Given the description of an element on the screen output the (x, y) to click on. 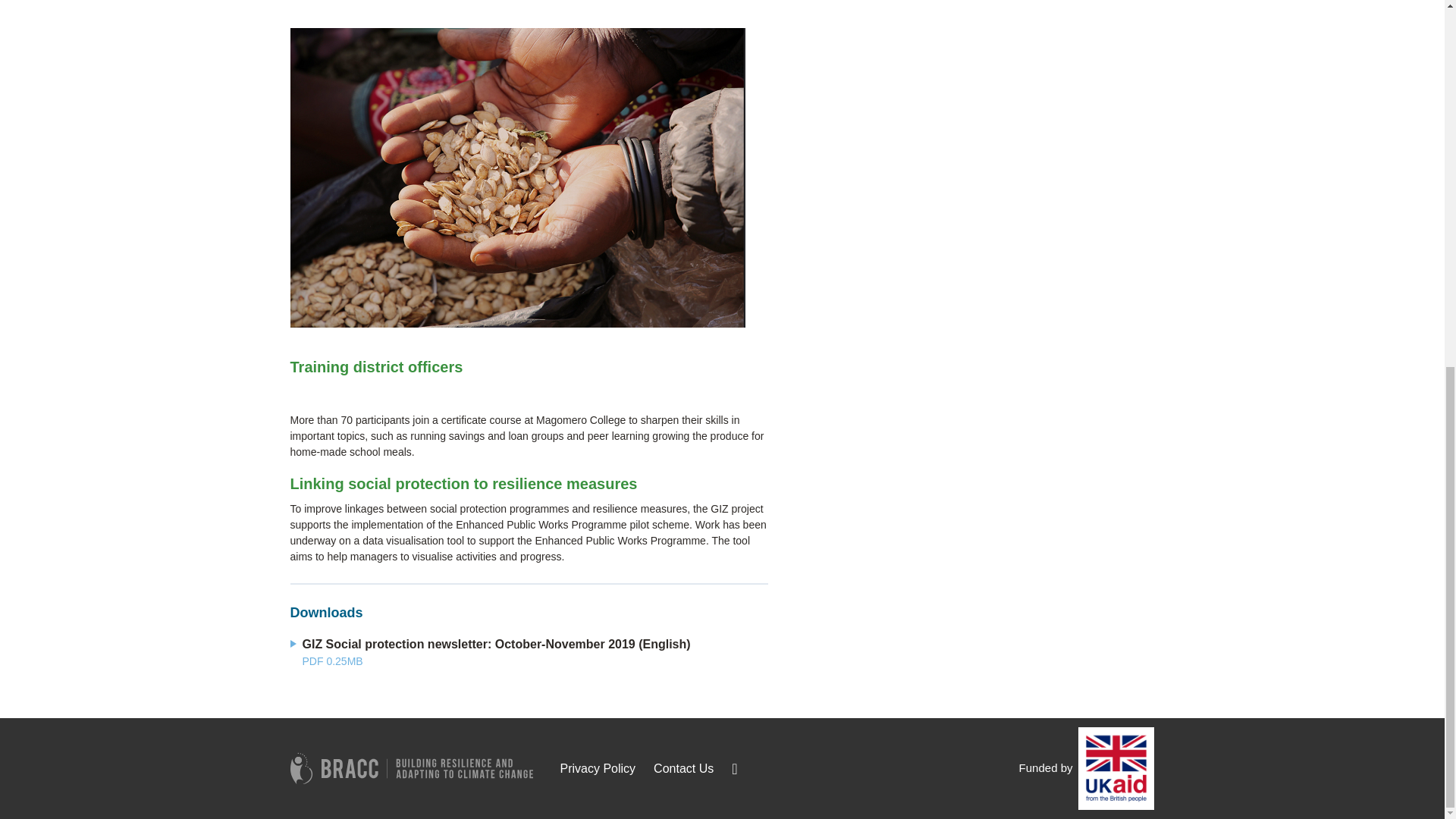
Privacy Policy (596, 768)
Contact Us (683, 768)
